Given the description of an element on the screen output the (x, y) to click on. 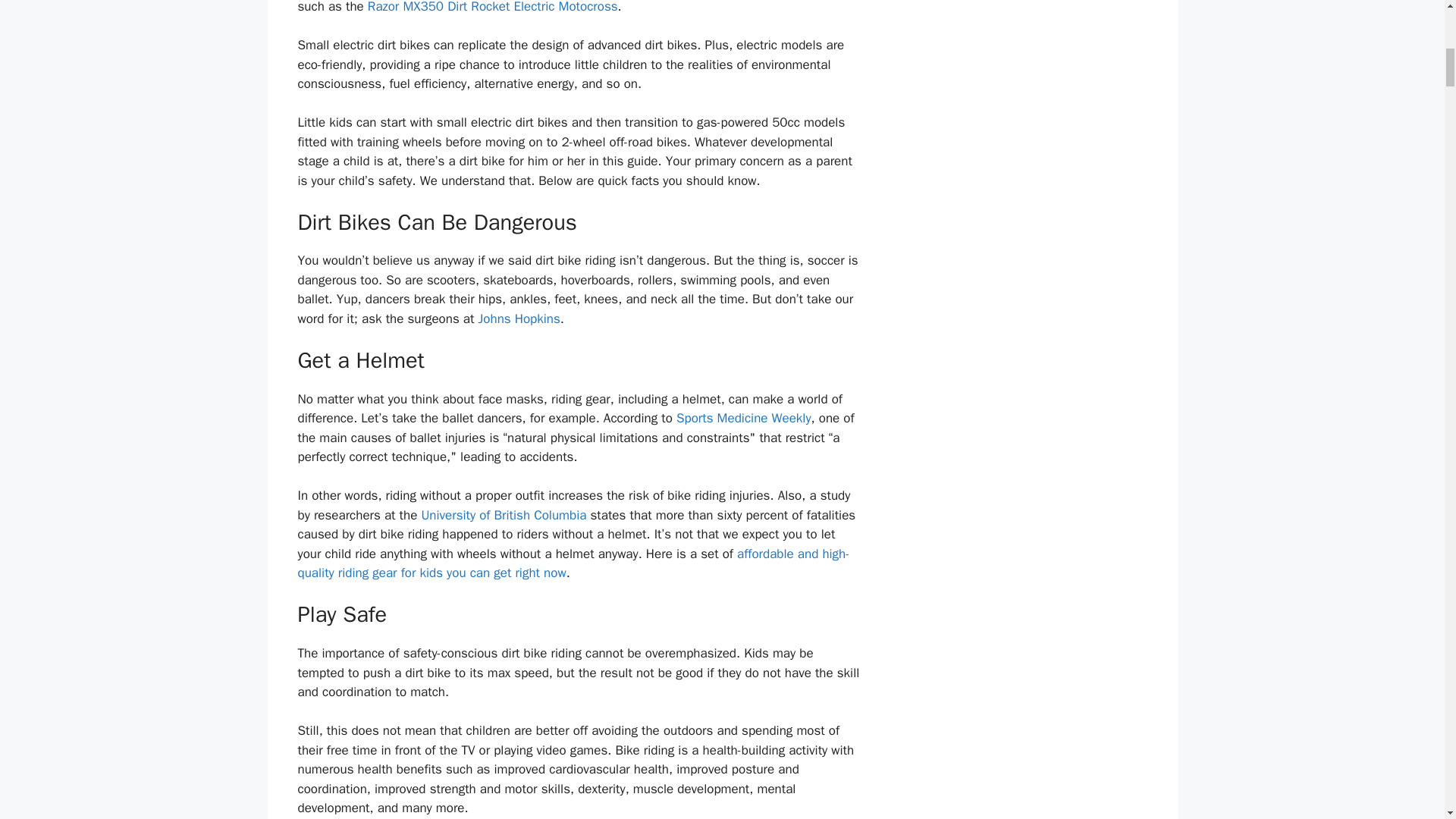
Razor MX350 Dirt Rocket Electric Motocross (492, 7)
Johns Hopkins (519, 318)
Sports Medicine Weekly (743, 417)
University of British Columbia (503, 514)
